Given the description of an element on the screen output the (x, y) to click on. 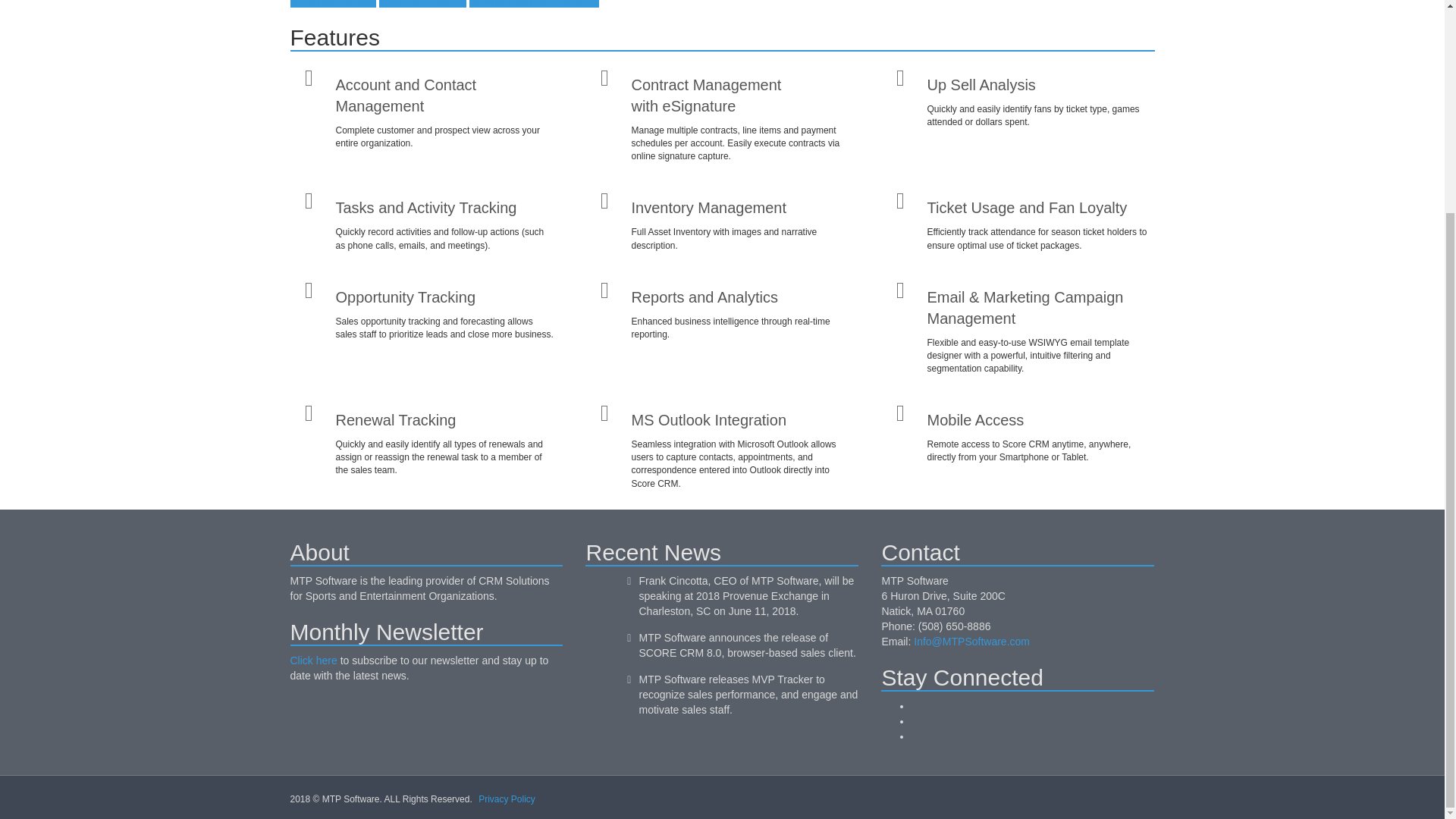
REQUEST DEMO (332, 3)
DOWNLOAD DATA SHEET (533, 3)
CONTACT SALES (421, 3)
Click here (312, 660)
